Given the description of an element on the screen output the (x, y) to click on. 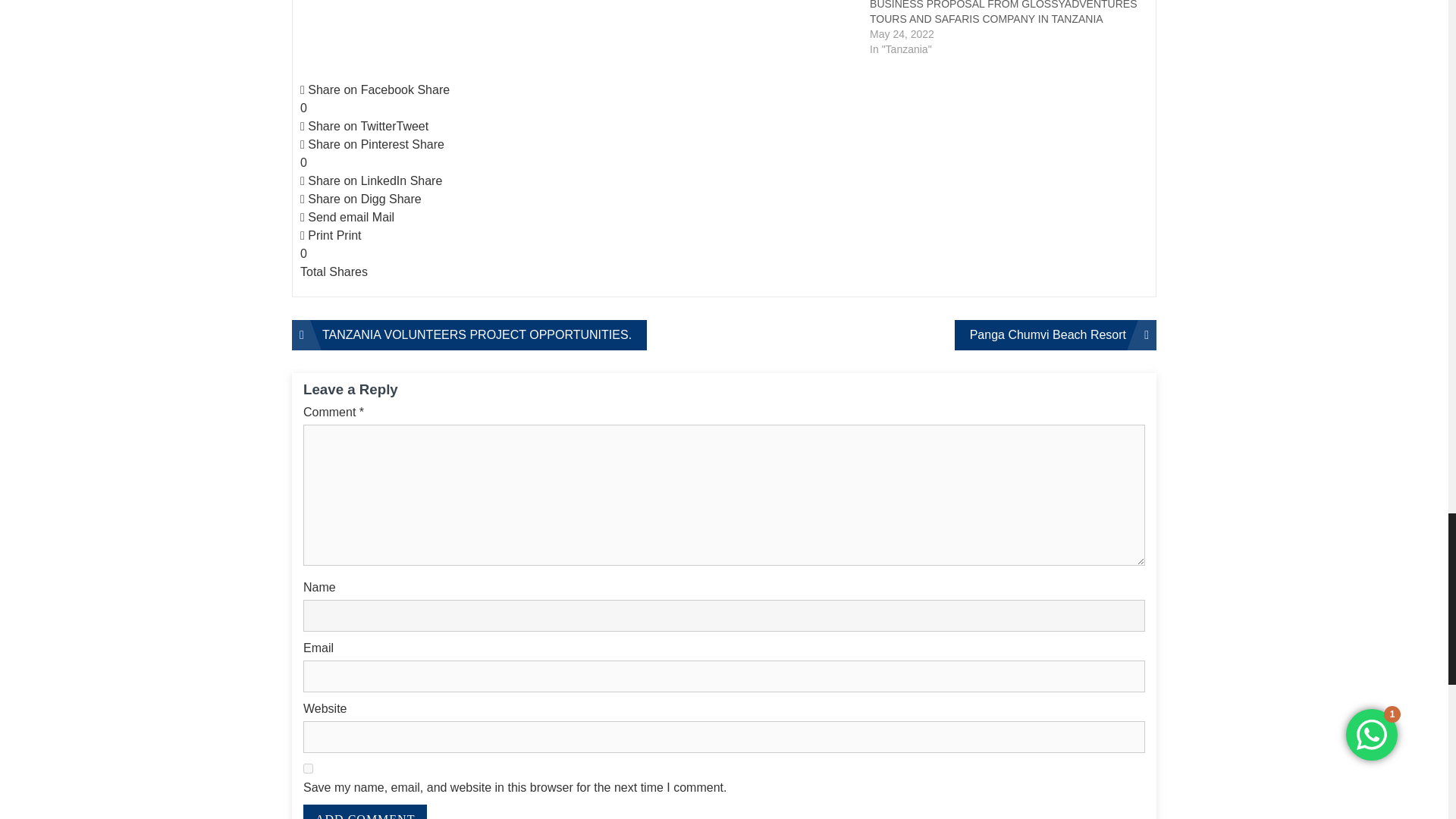
Share on Pinterest (723, 153)
Share on Twitter (723, 126)
yes (307, 768)
ADD COMMENT (364, 811)
Share on Facebook (723, 99)
